Given the description of an element on the screen output the (x, y) to click on. 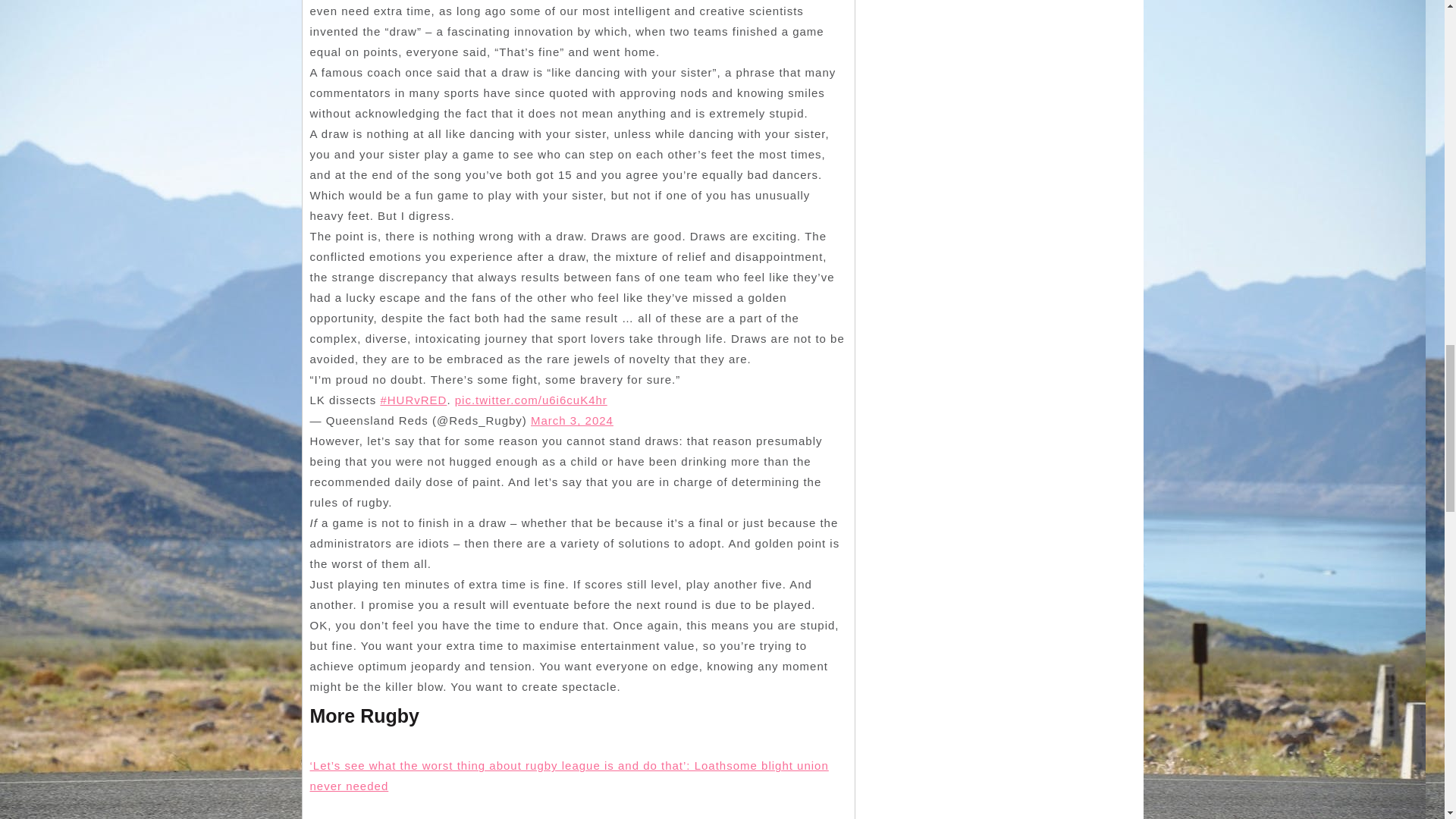
March 3, 2024 (571, 420)
